Given the description of an element on the screen output the (x, y) to click on. 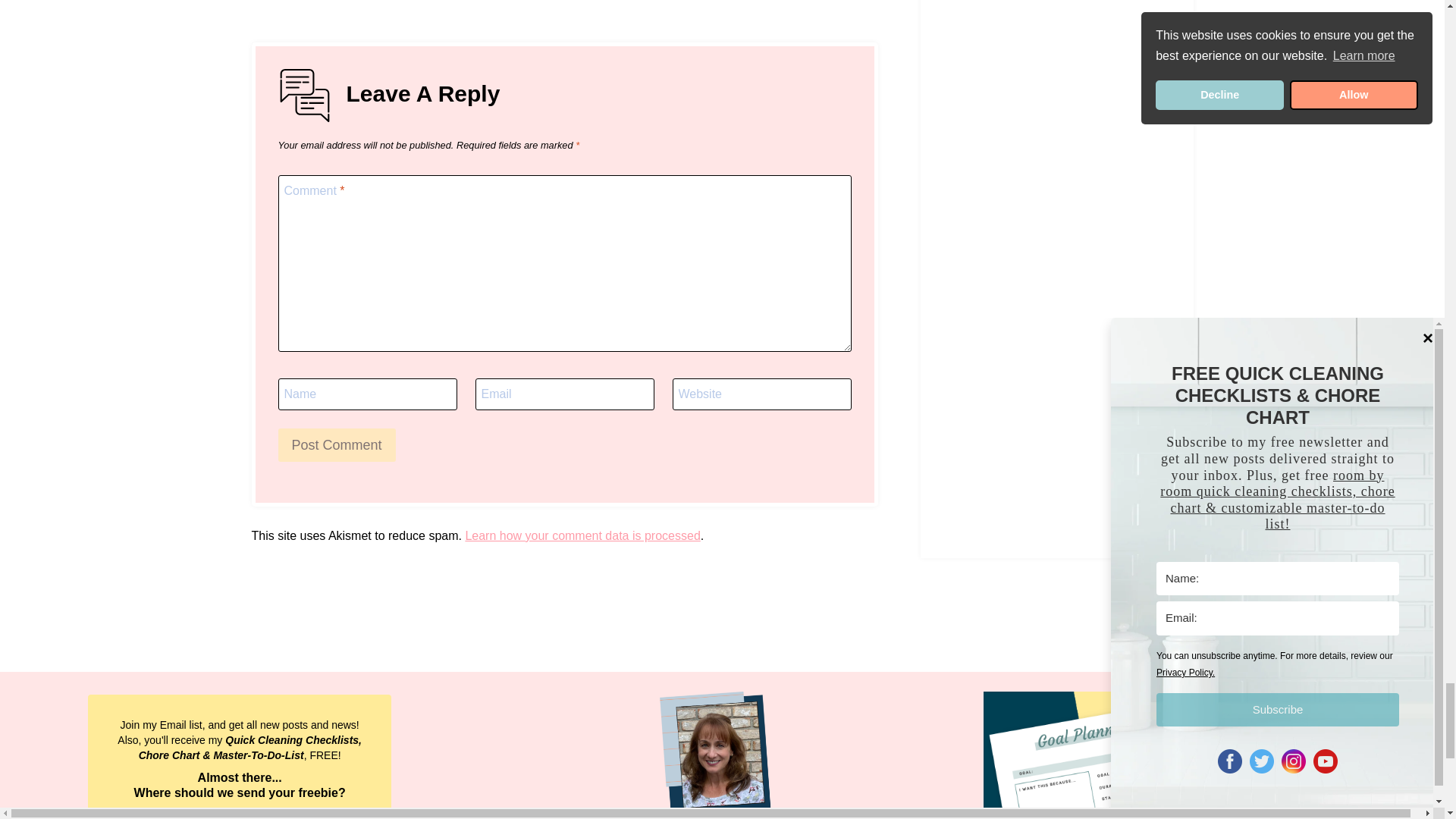
Post Comment (336, 444)
